Given the description of an element on the screen output the (x, y) to click on. 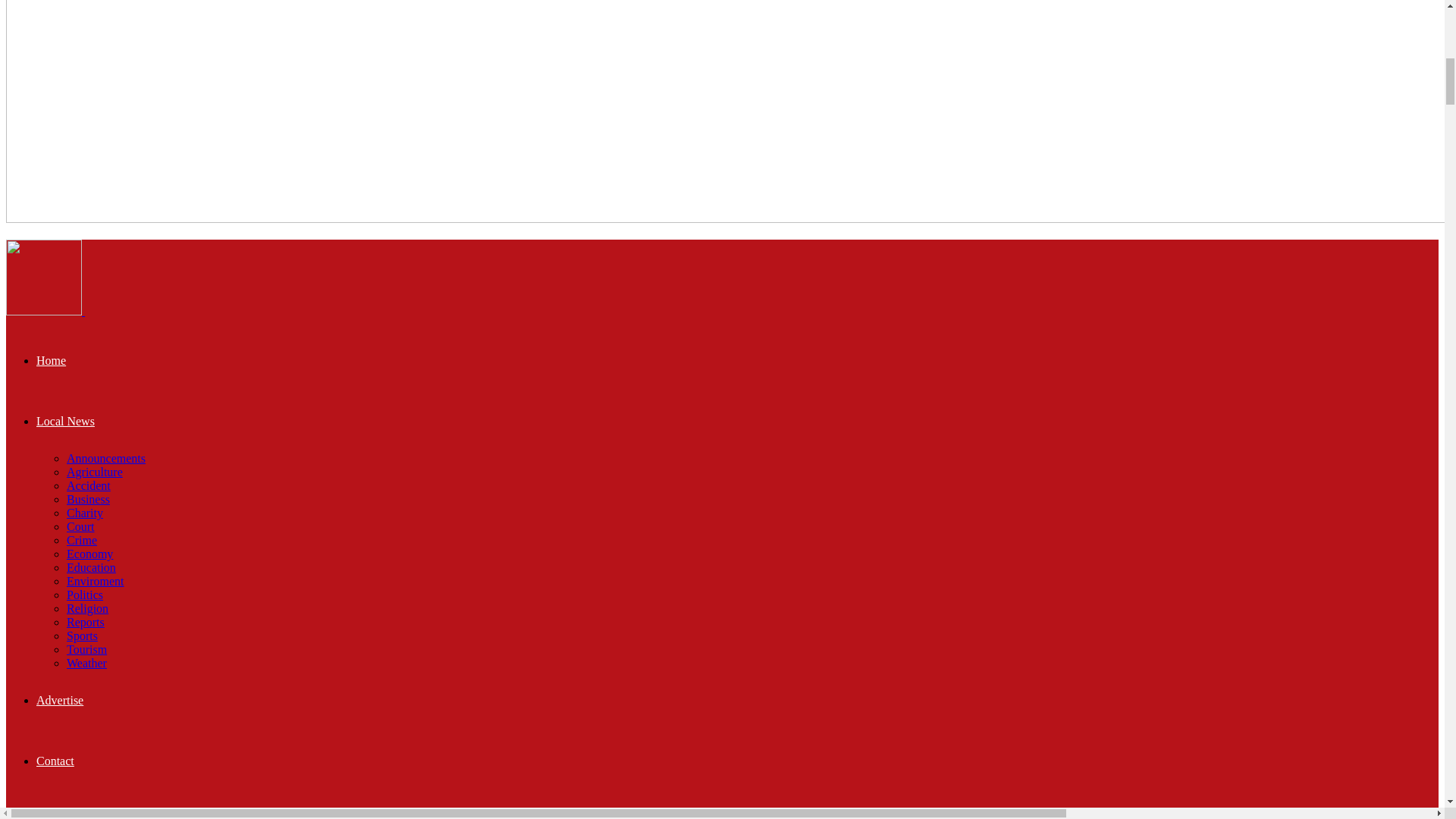
Local News (65, 420)
Announcements (105, 458)
Home (50, 359)
